Given the description of an element on the screen output the (x, y) to click on. 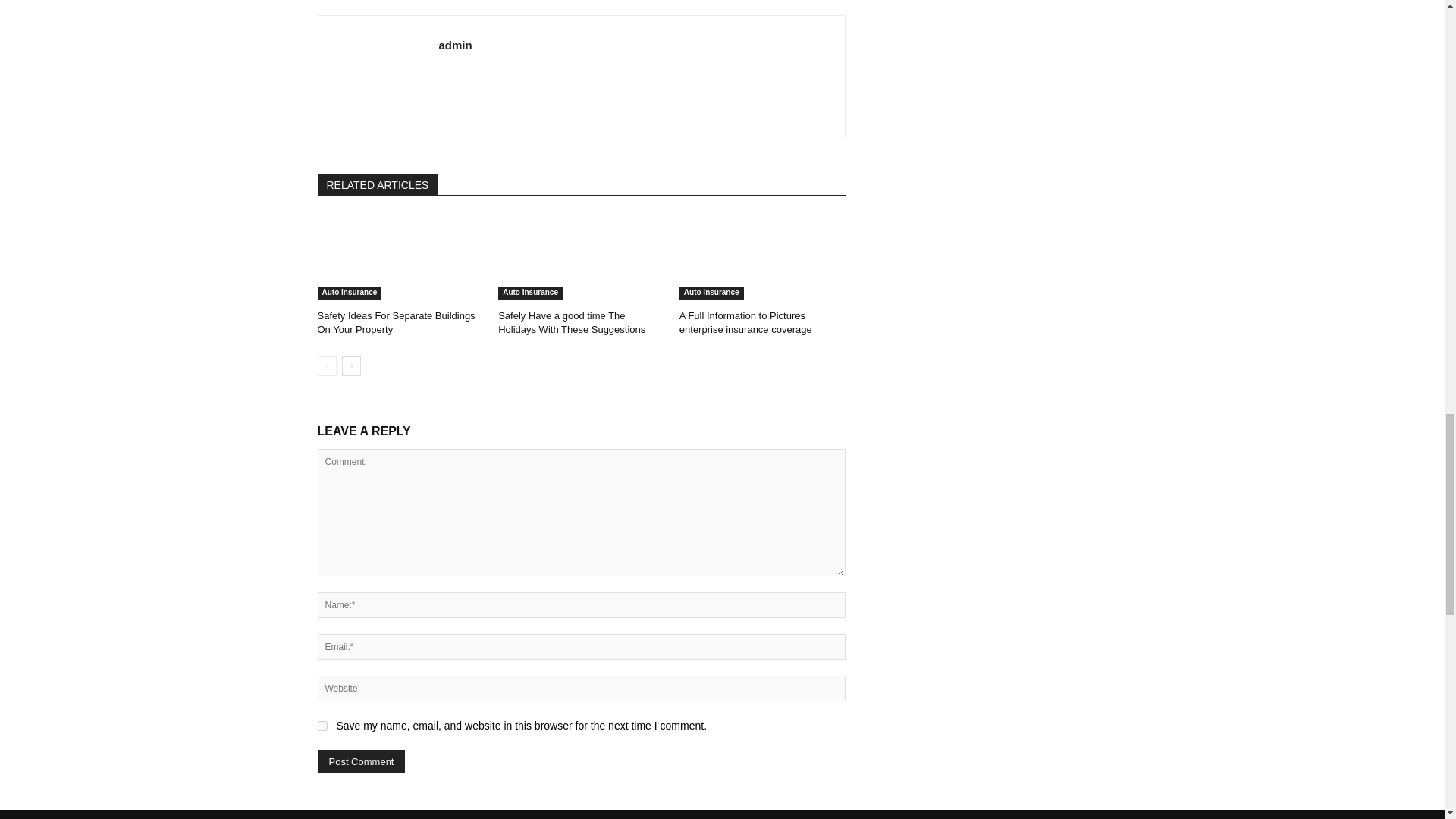
Post Comment (360, 761)
yes (321, 726)
